Given the description of an element on the screen output the (x, y) to click on. 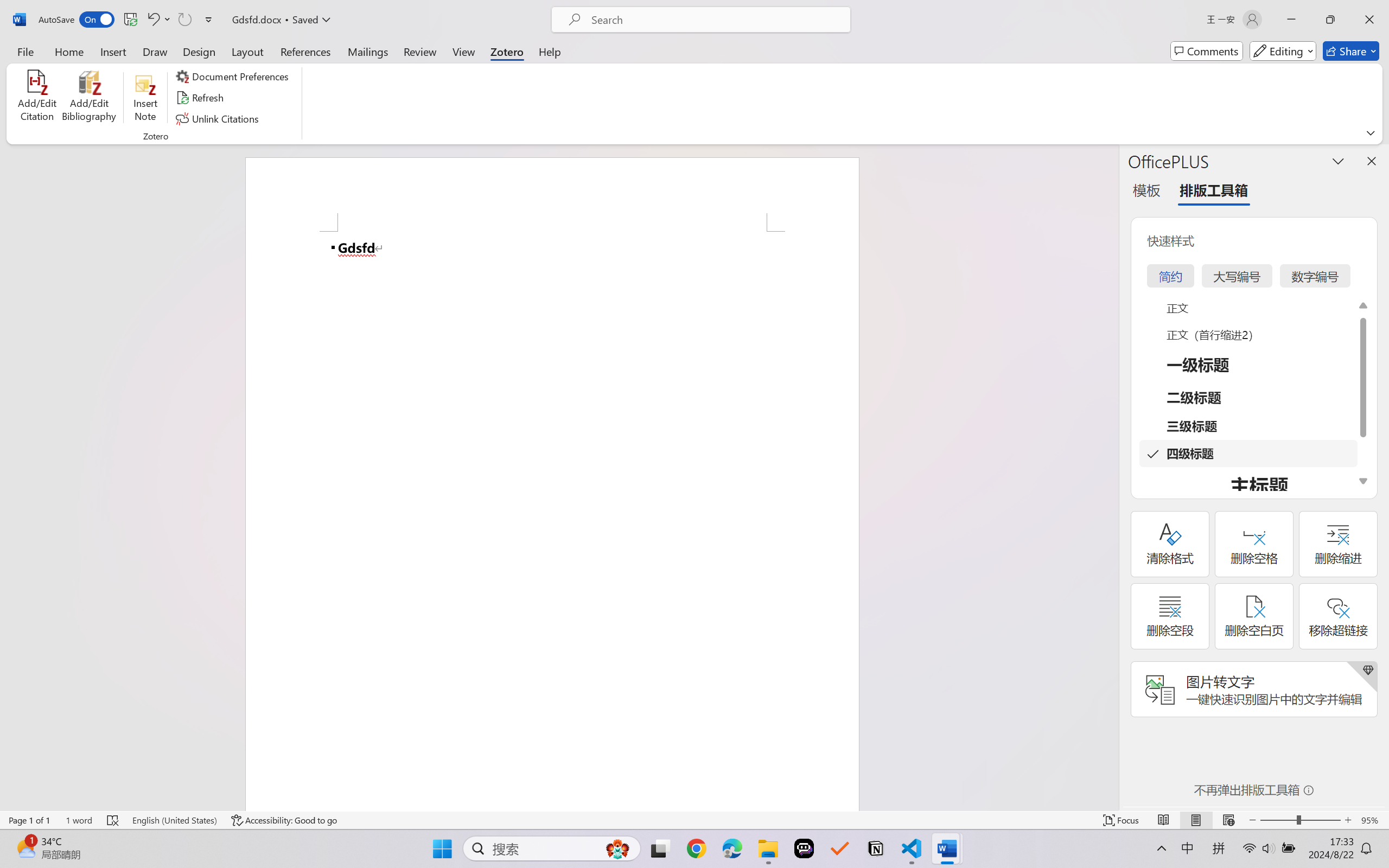
Unlink Citations (218, 118)
Insert Note (145, 97)
Can't Repeat (184, 19)
Add/Edit Citation (37, 97)
